Given the description of an element on the screen output the (x, y) to click on. 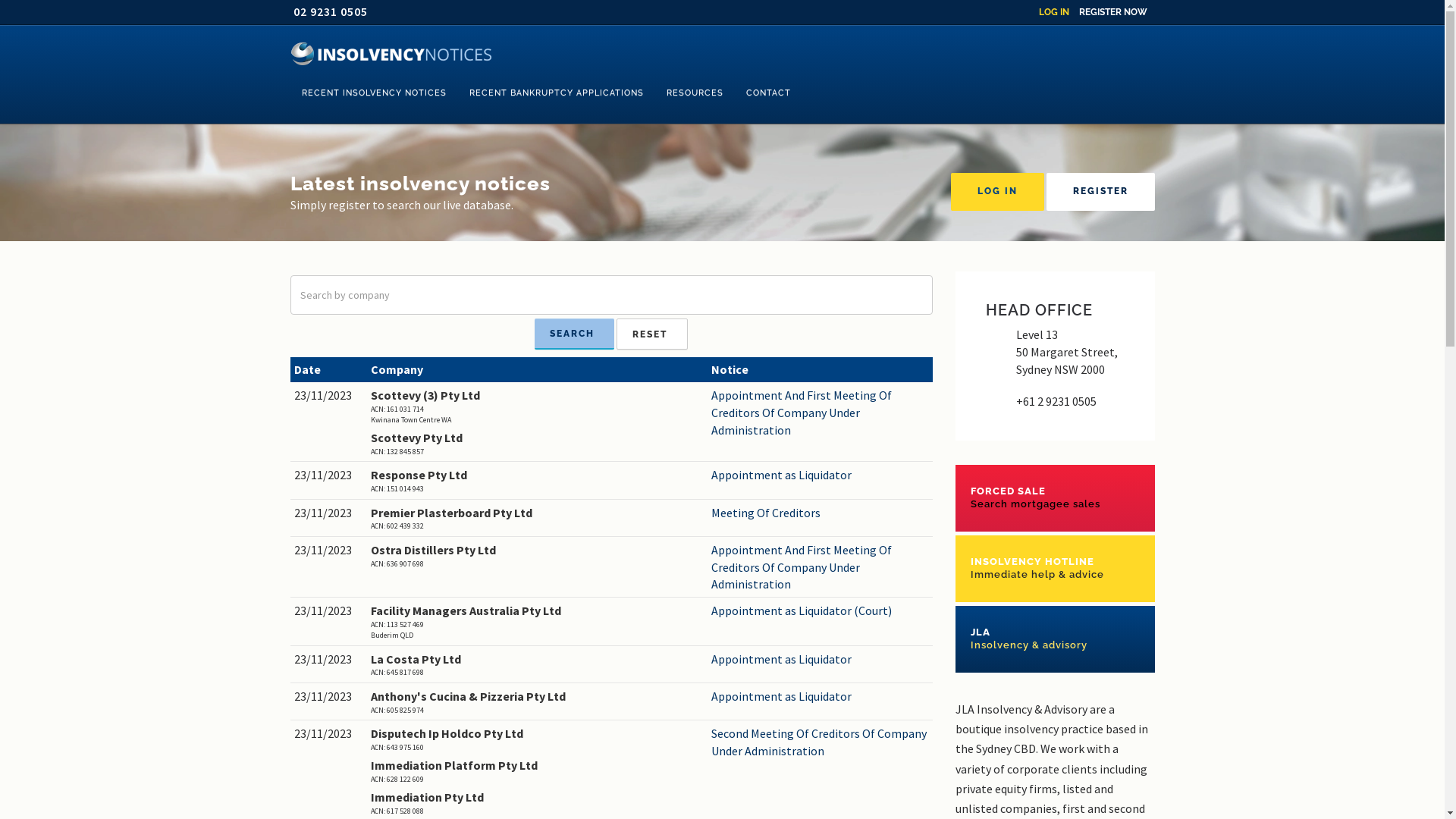
LOG IN Element type: text (1053, 11)
23/11/2023 Element type: text (329, 474)
JLA  
Insolvency & advisory Element type: text (1054, 638)
INSOLVENCY HOTLINE  
Immediate help & advice Element type: text (1054, 568)
Premier Plasterboard Pty Ltd
ACN: 602 439 332 Element type: text (536, 518)
REGISTER NOW Element type: text (1112, 11)
23/11/2023 Element type: text (329, 610)
Anthony's Cucina & Pizzeria Pty Ltd
ACN: 605 825 974 Element type: text (536, 701)
Appointment as Liquidator Element type: text (819, 474)
La Costa Pty Ltd
ACN: 645 817 698 Element type: text (536, 664)
LOG IN Element type: text (997, 191)
23/11/2023 Element type: text (329, 696)
CONTACT Element type: text (767, 92)
RECENT BANKRUPTCY APPLICATIONS Element type: text (556, 92)
Search Element type: text (574, 333)
RECENT INSOLVENCY NOTICES Element type: text (373, 92)
23/11/2023 Element type: text (329, 733)
Appointment as Liquidator (Court) Element type: text (819, 610)
23/11/2023 Element type: text (329, 549)
Second Meeting Of Creditors Of Company Under Administration Element type: text (819, 741)
Response Pty Ltd
ACN: 151 014 943 Element type: text (536, 480)
23/11/2023 Element type: text (329, 395)
Meeting Of Creditors Element type: text (819, 512)
FORCED SALE  
Search mortgagee sales Element type: text (1054, 497)
Ostra Distillers Pty Ltd
ACN: 636 907 698 Element type: text (536, 555)
23/11/2023 Element type: text (329, 512)
REGISTER Element type: text (1100, 191)
Appointment as Liquidator Element type: text (819, 659)
23/11/2023 Element type: text (329, 659)
Appointment as Liquidator Element type: text (819, 696)
RESOURCES Element type: text (694, 92)
